Given the description of an element on the screen output the (x, y) to click on. 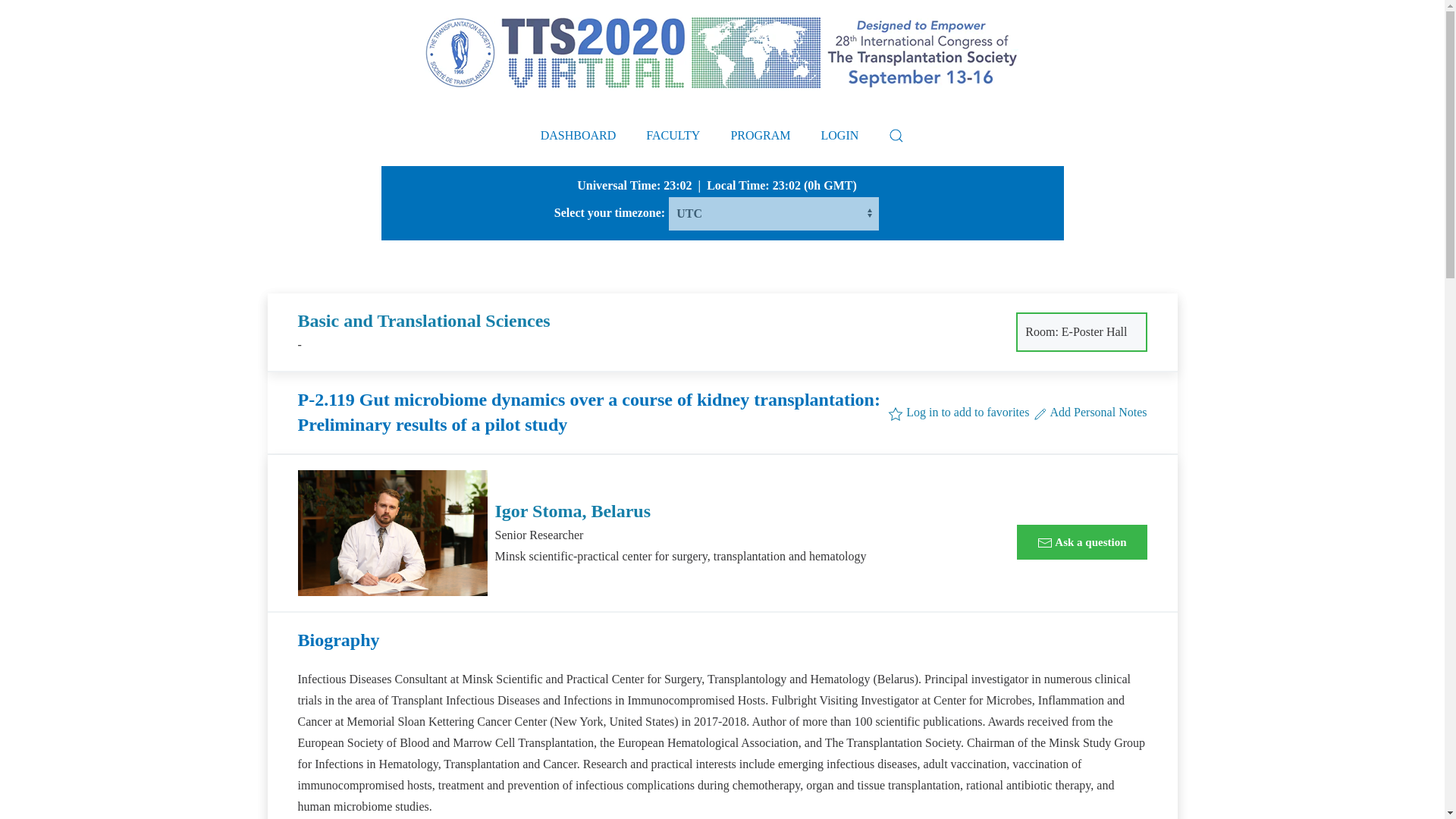
PROGRAM (759, 135)
LOGIN (840, 135)
FACULTY (672, 135)
Igor Stoma, Belarus (572, 510)
Ask a question (1081, 541)
Add to favourites? (958, 411)
DASHBOARD (578, 135)
Add Personal Notes (1089, 411)
Basic and Translational Sciences (423, 320)
Log in to add to favorites (958, 411)
